Given the description of an element on the screen output the (x, y) to click on. 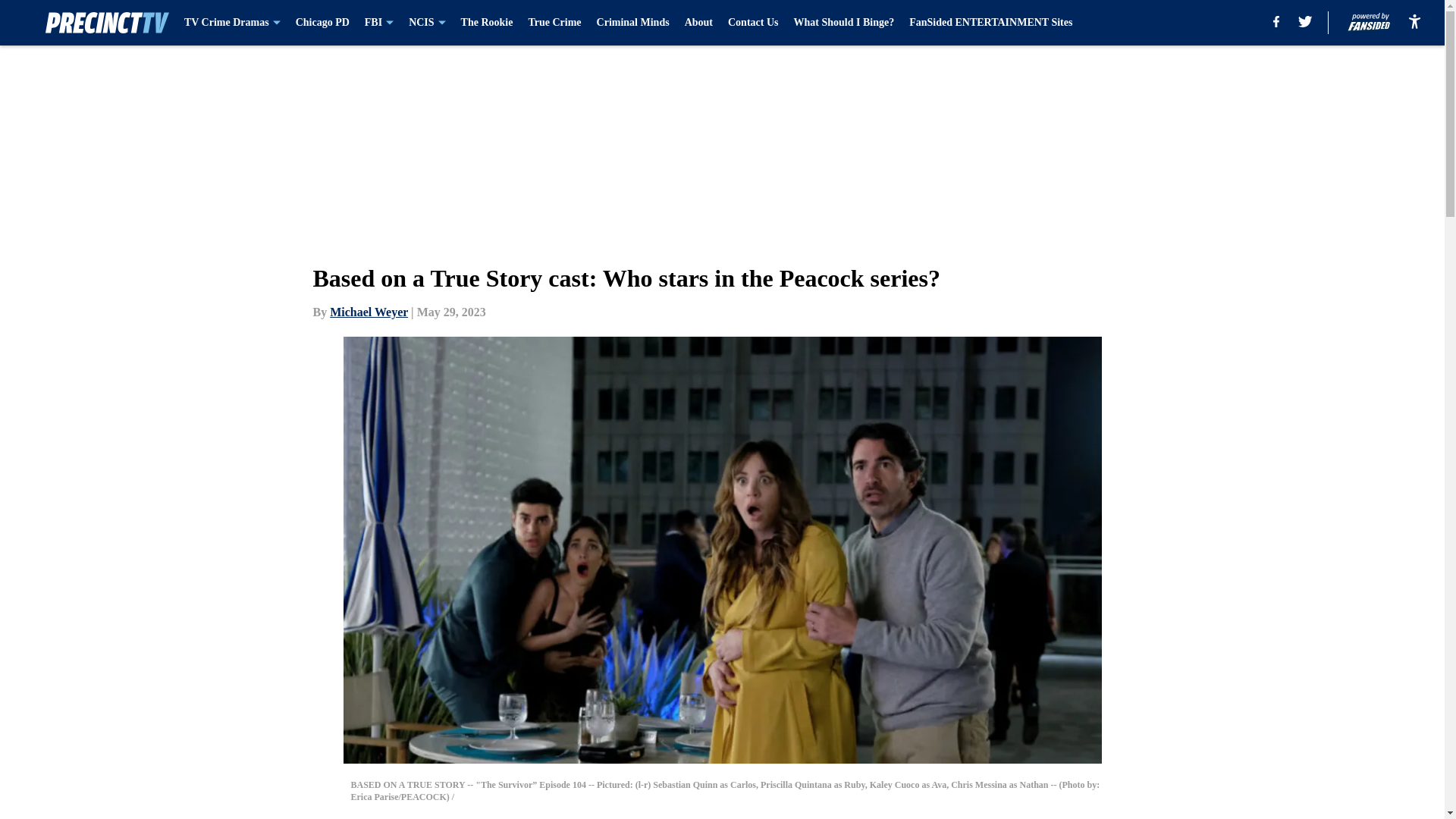
About (698, 22)
The Rookie (487, 22)
Criminal Minds (632, 22)
Michael Weyer (368, 311)
Contact Us (753, 22)
Chicago PD (322, 22)
FanSided ENTERTAINMENT Sites (989, 22)
True Crime (553, 22)
What Should I Binge? (843, 22)
